Given the description of an element on the screen output the (x, y) to click on. 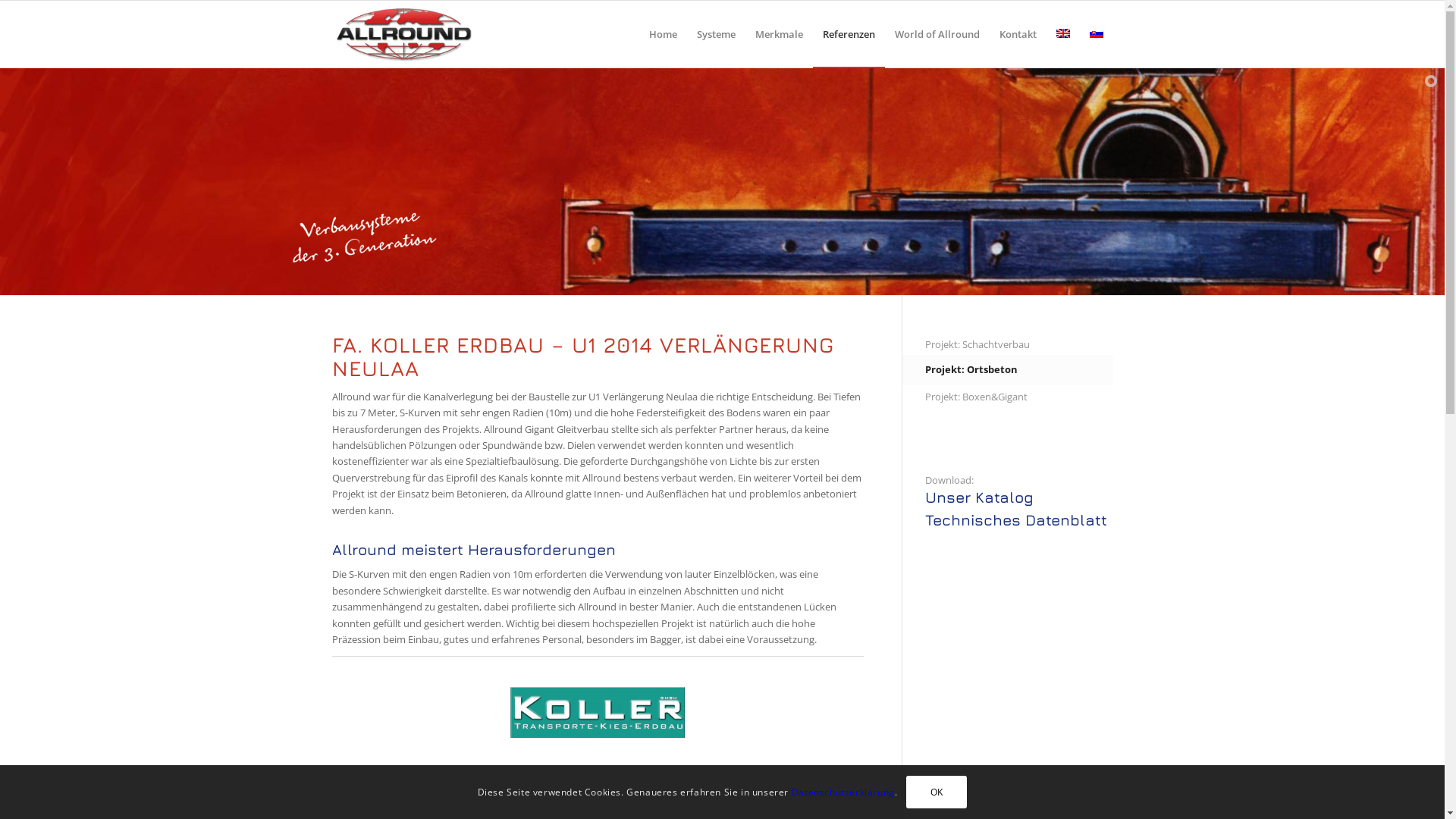
Home Element type: text (662, 33)
Systeme Element type: text (716, 33)
World of Allround Element type: text (936, 33)
Projekt: Boxen&Gigant Element type: text (1018, 396)
Projekt: Ortsbeton Element type: text (1018, 369)
Referenzen Element type: text (848, 33)
OK Element type: text (936, 791)
Unser Katalog Element type: text (1018, 504)
Technisches Datenblatt Element type: text (1018, 519)
Merkmale Element type: text (778, 33)
Projekt: Schachtverbau Element type: text (1018, 344)
Kontakt Element type: text (1016, 33)
